Given the description of an element on the screen output the (x, y) to click on. 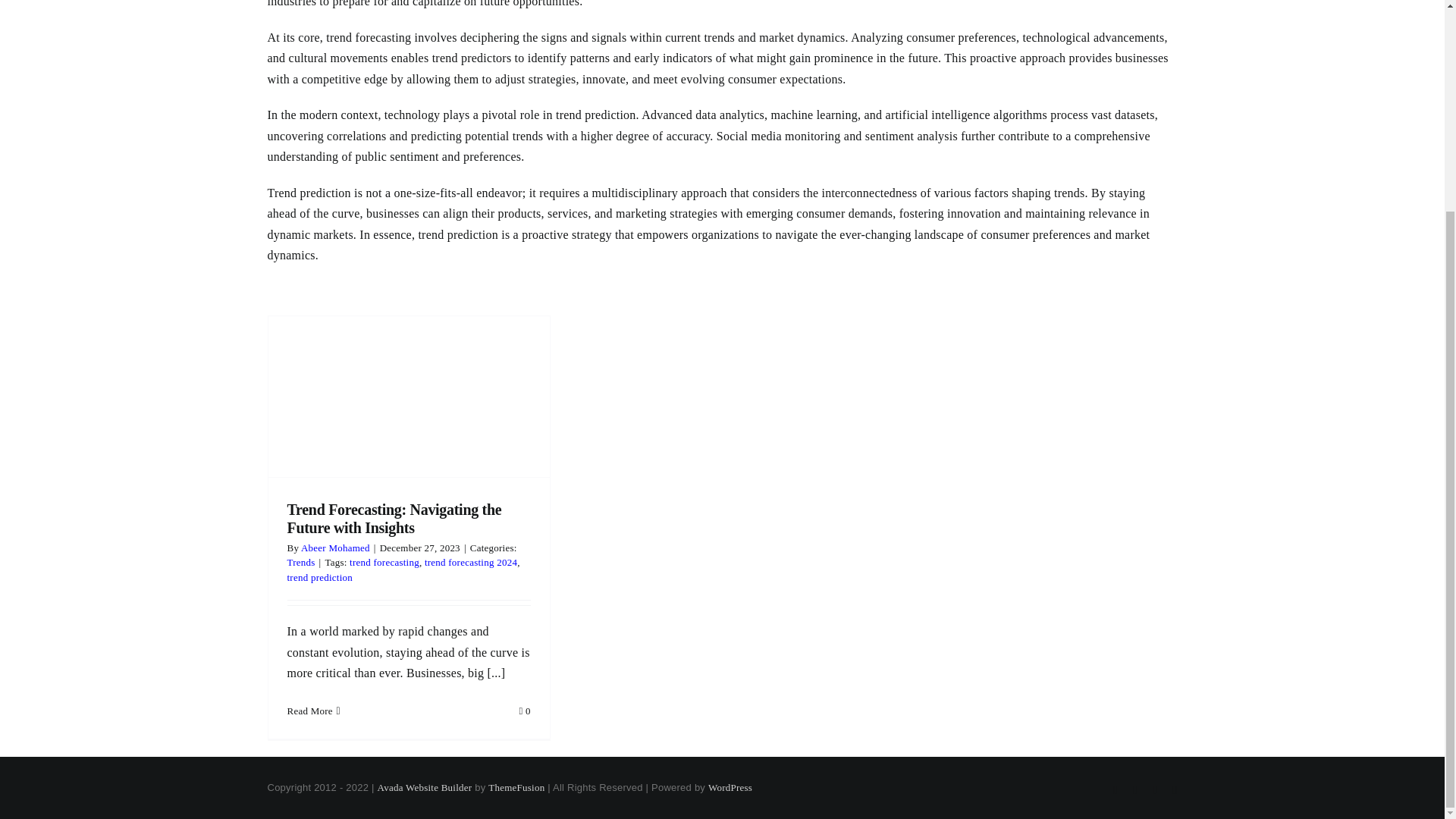
Trends (300, 562)
Read More (308, 710)
Posts by Abeer Mohamed (335, 547)
WordPress (729, 787)
Abeer Mohamed (335, 547)
Avada Website Builder (424, 787)
trend forecasting 2024 (470, 562)
trend prediction (319, 577)
trend forecasting (384, 562)
 0 (525, 710)
